Given the description of an element on the screen output the (x, y) to click on. 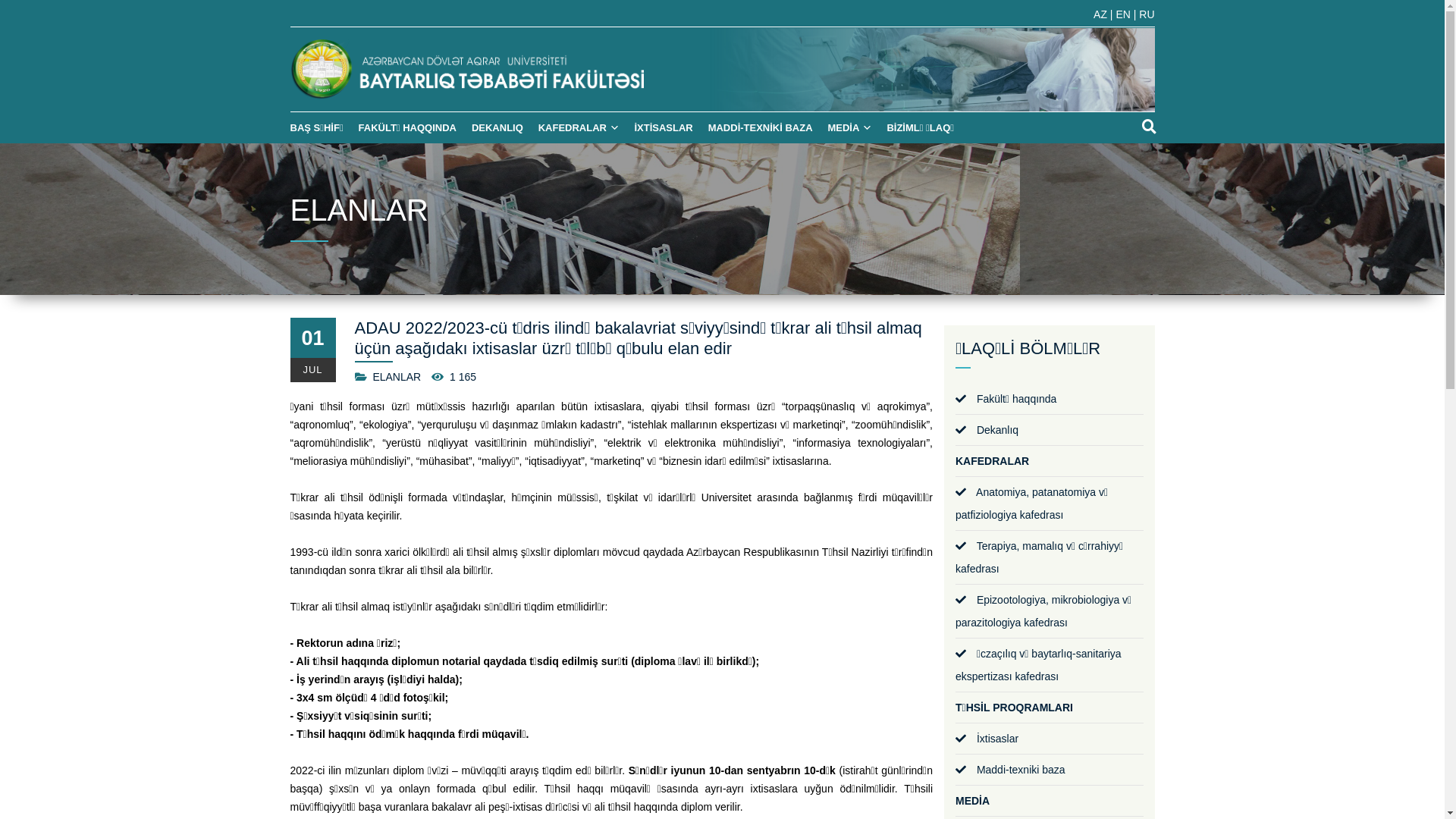
Maddi-texniki baza Element type: text (1010, 769)
DEKANLIQ Element type: text (493, 143)
KAFEDRALAR Element type: text (574, 143)
EN Element type: text (1123, 14)
RU Element type: text (1146, 14)
AZ Element type: text (1101, 14)
Skip to content Element type: text (0, 0)
